Given the description of an element on the screen output the (x, y) to click on. 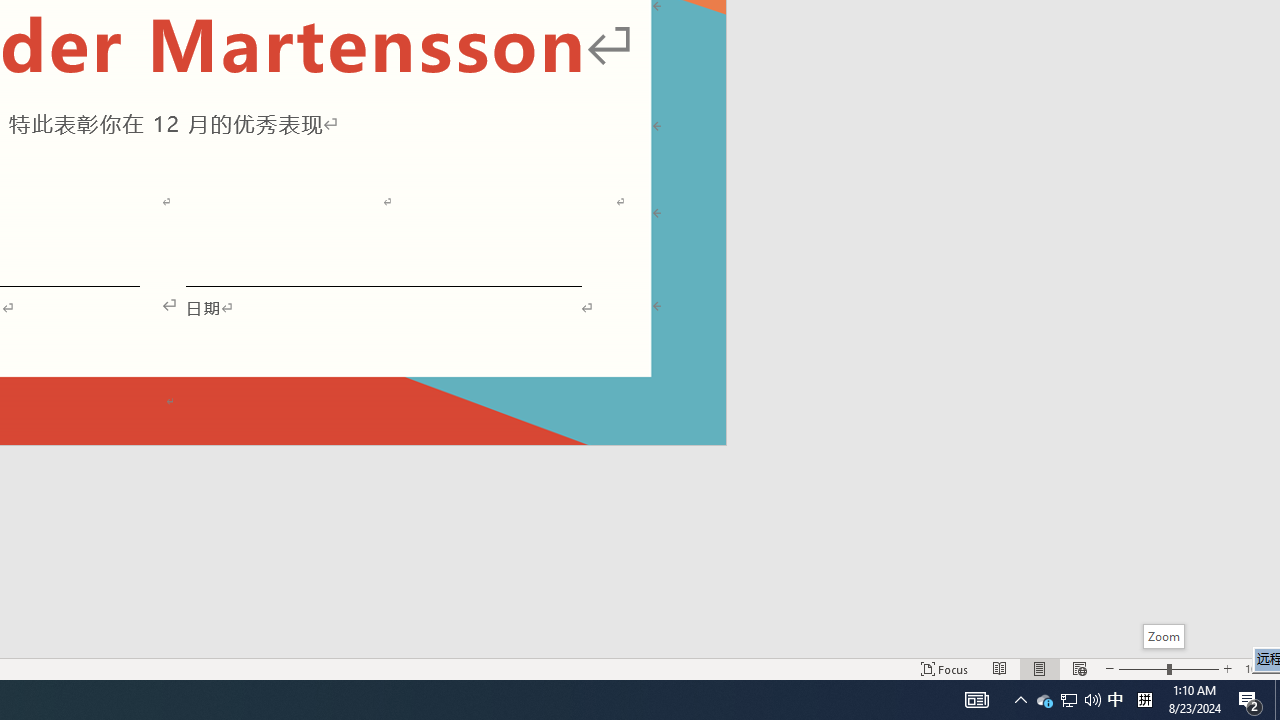
Zoom 100% (1258, 668)
